Given the description of an element on the screen output the (x, y) to click on. 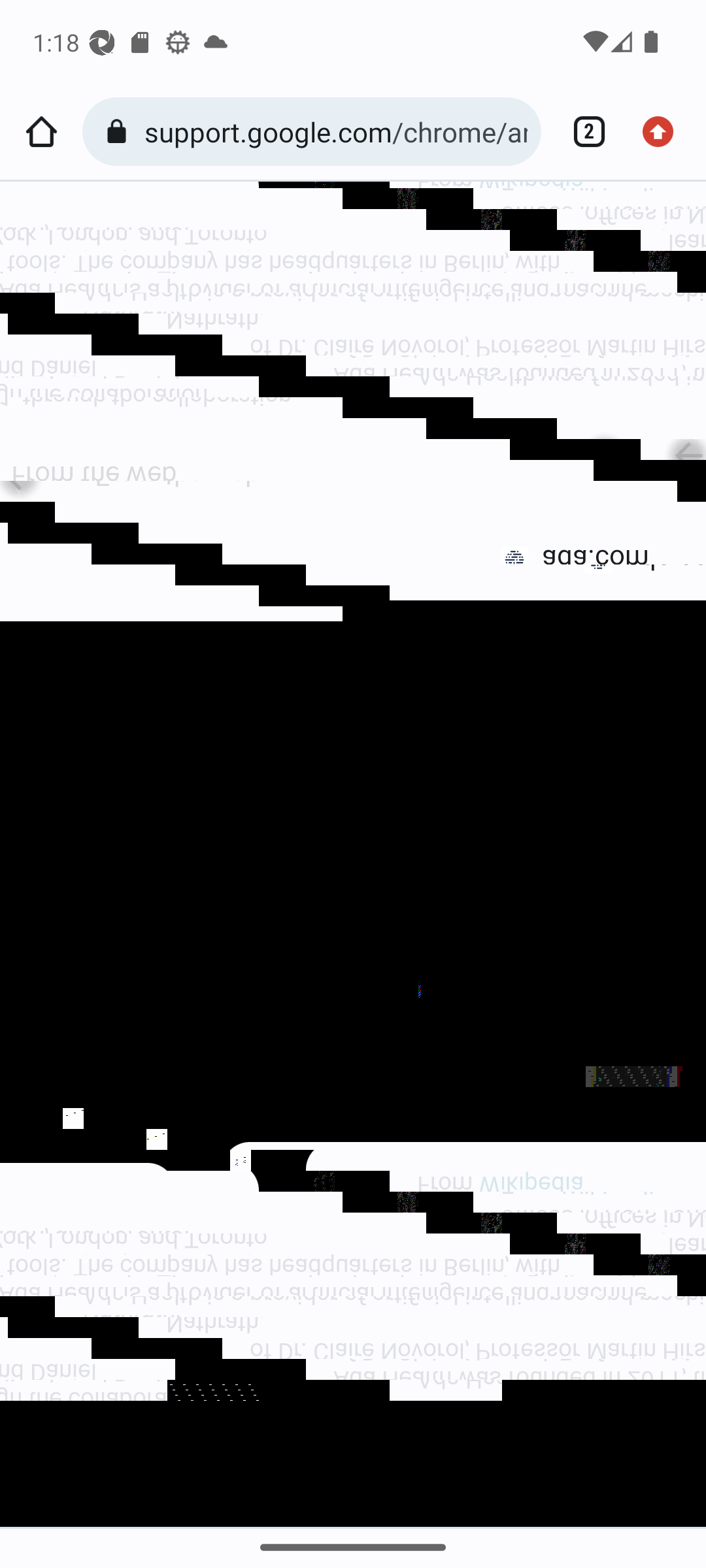
Home (41, 131)
Connection is secure (120, 131)
Switch or close tabs (582, 131)
Update available. More options (664, 131)
